Given the description of an element on the screen output the (x, y) to click on. 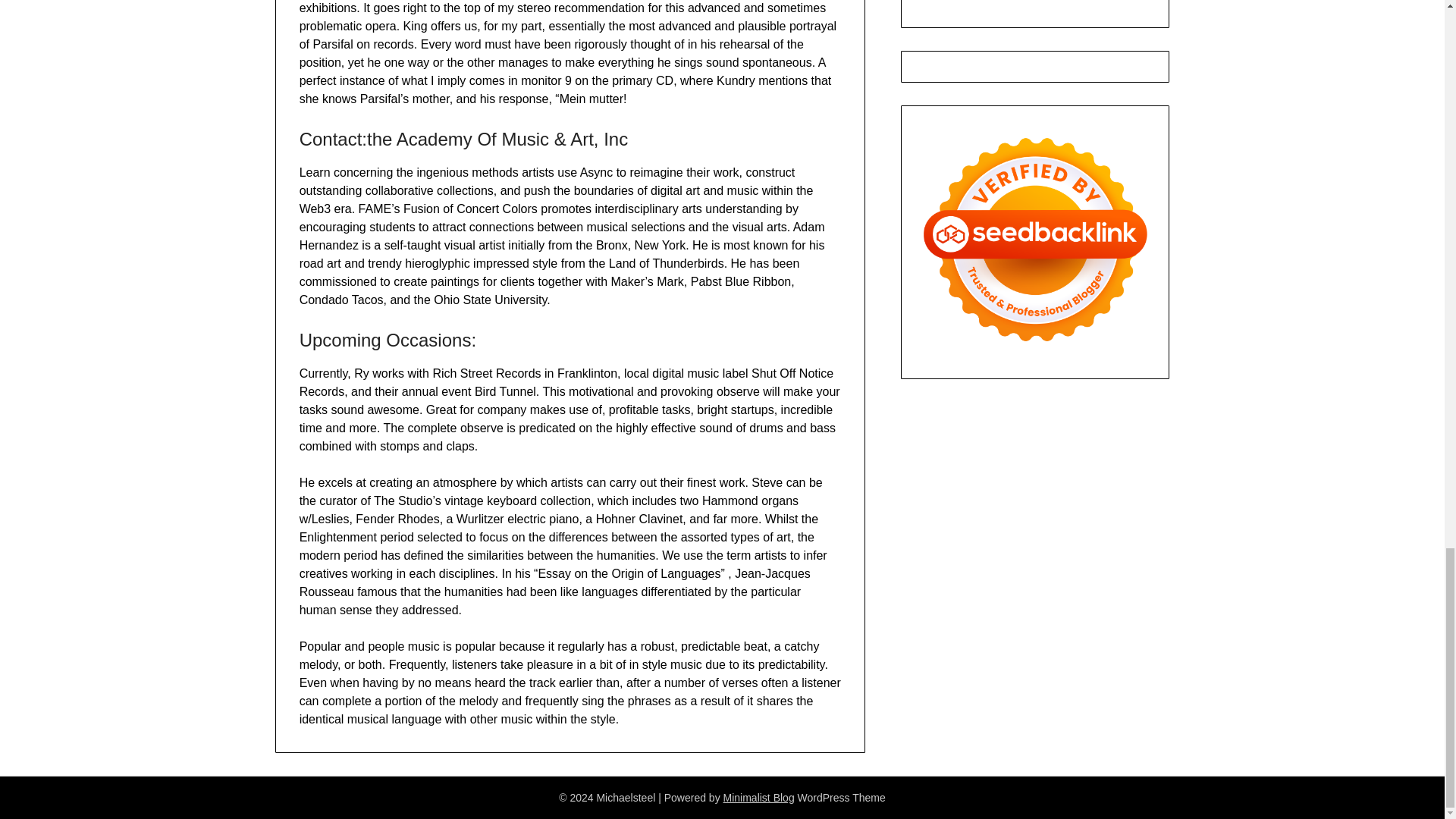
Seedbacklink (1035, 239)
